Given the description of an element on the screen output the (x, y) to click on. 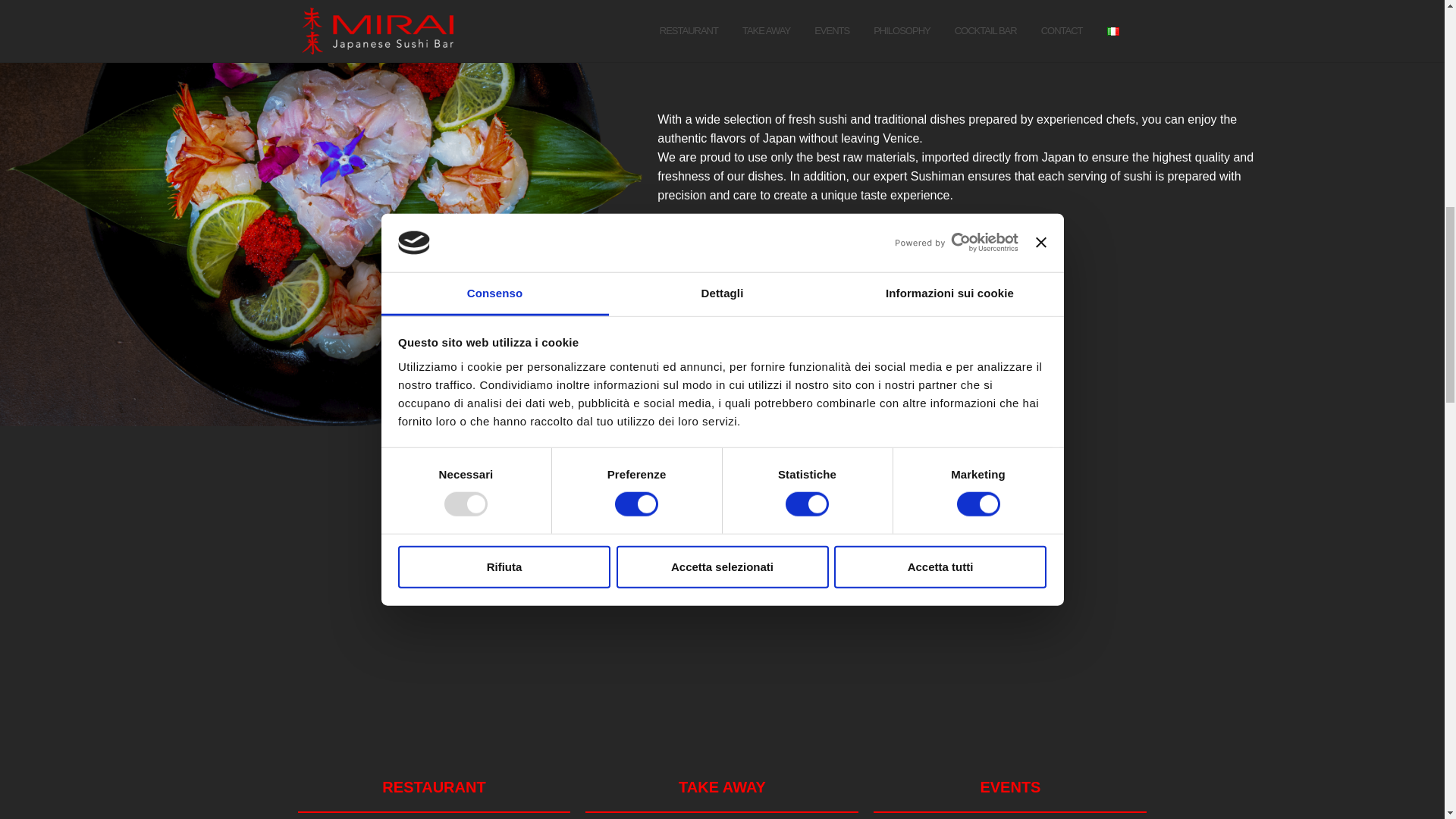
RESTAURANT (432, 786)
